Given the description of an element on the screen output the (x, y) to click on. 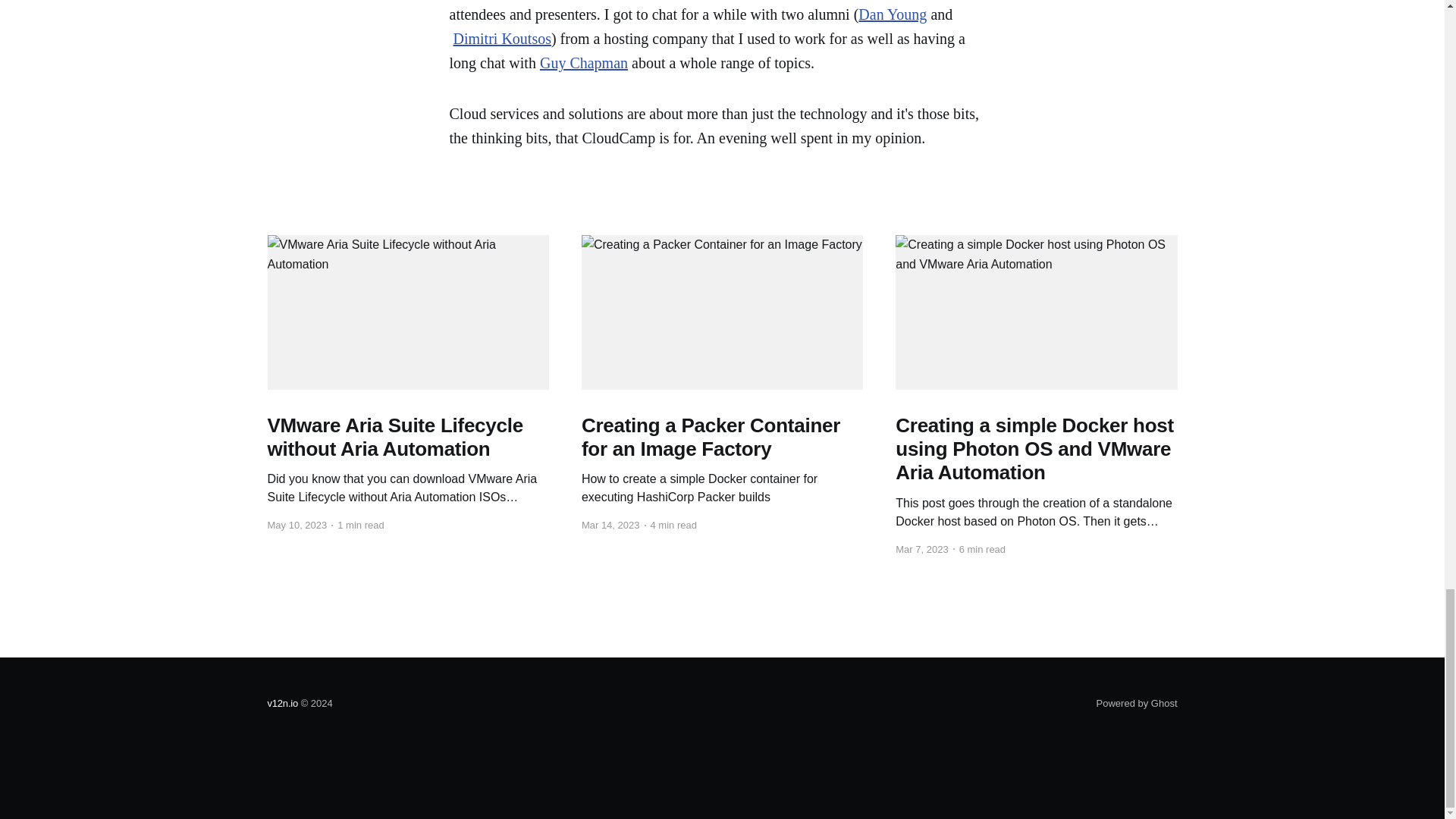
v12n.io (282, 703)
Powered by Ghost (1136, 703)
Dimitri Koutsos (501, 38)
Guy Chapman (583, 62)
Dan Young (892, 13)
